Given the description of an element on the screen output the (x, y) to click on. 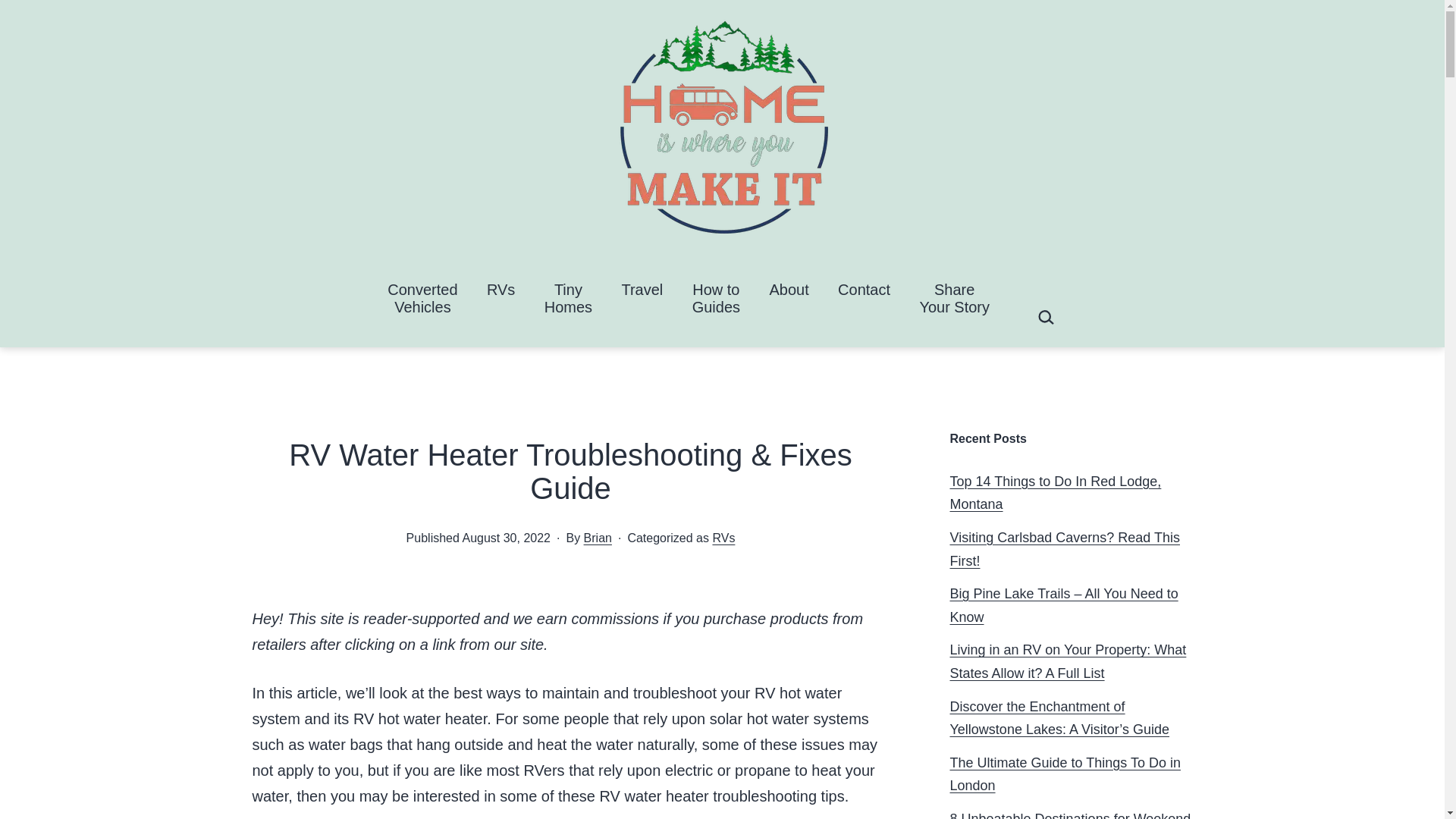
Brian (597, 537)
RVs (723, 537)
RVs (568, 298)
Travel (501, 298)
About (422, 298)
Contact (715, 298)
